Given the description of an element on the screen output the (x, y) to click on. 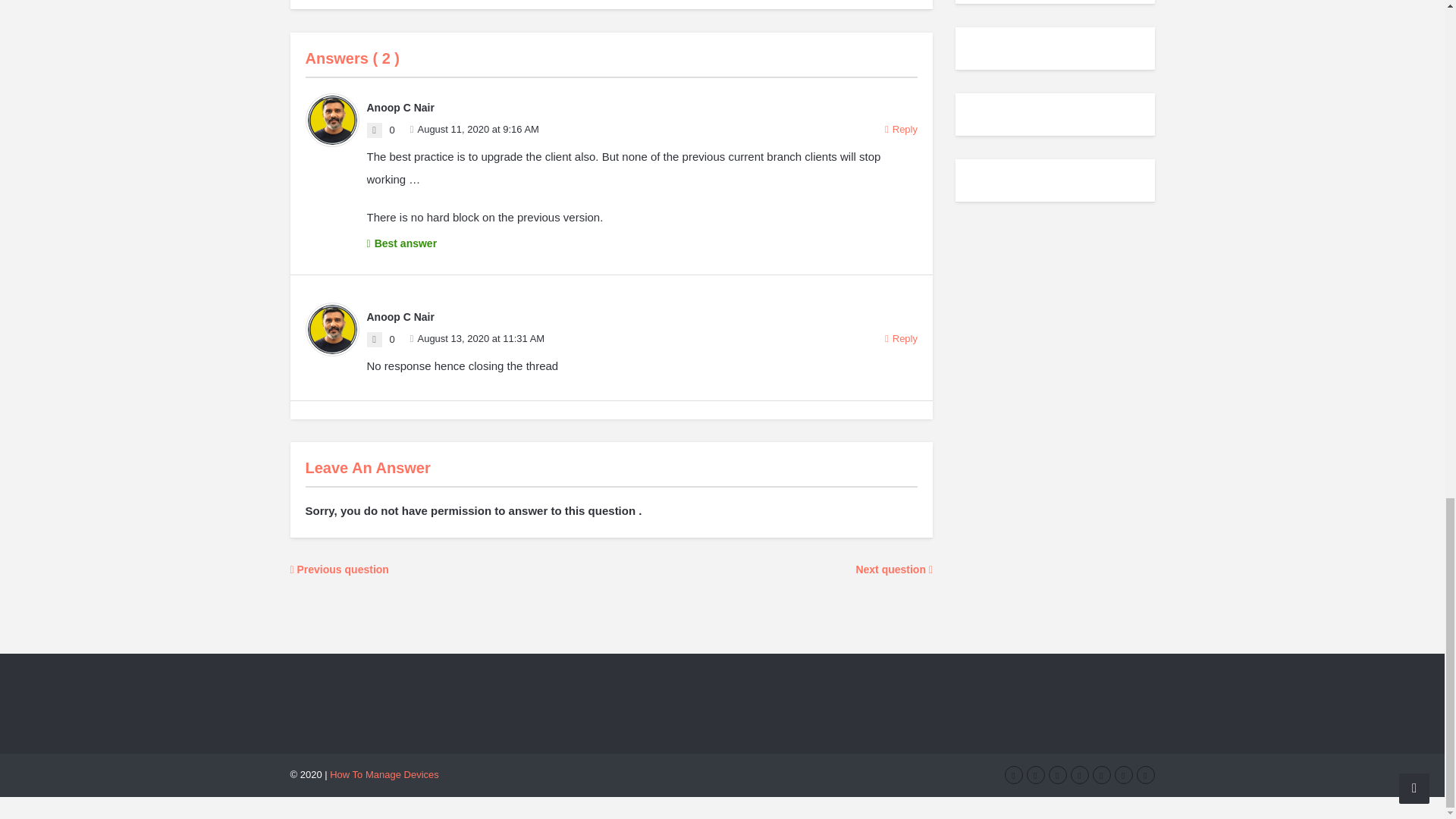
Like (373, 339)
Like (373, 130)
